Given the description of an element on the screen output the (x, y) to click on. 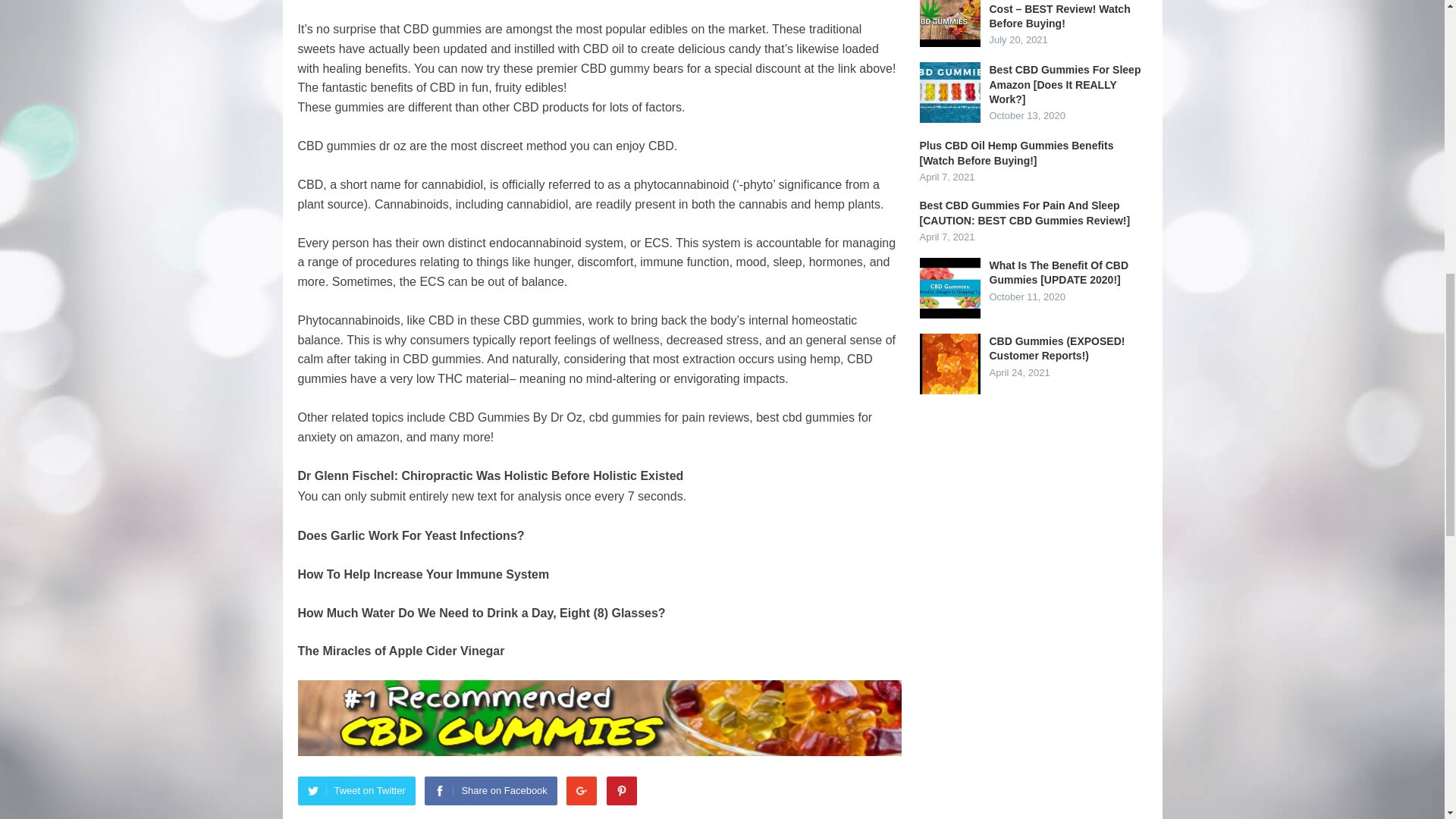
Share on Facebook (490, 790)
Tweet on Twitter (355, 790)
Pinterest (622, 790)
